Given the description of an element on the screen output the (x, y) to click on. 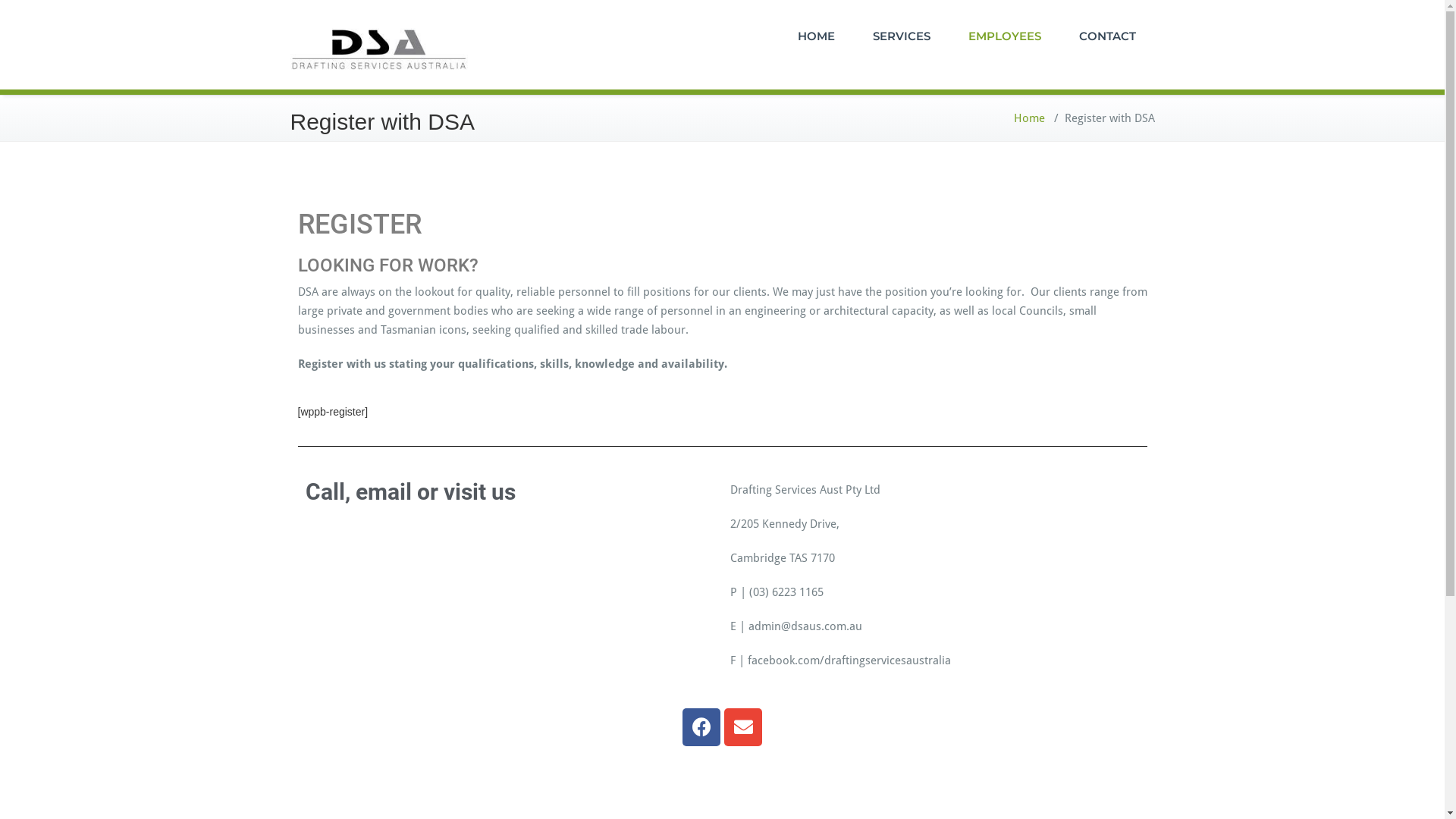
Skip to content Element type: text (0, 0)
Home Element type: text (1028, 118)
SERVICES Element type: text (901, 36)
CONTACT Element type: text (1107, 36)
HOME Element type: text (815, 36)
EMPLOYEES Element type: text (1004, 36)
